Given the description of an element on the screen output the (x, y) to click on. 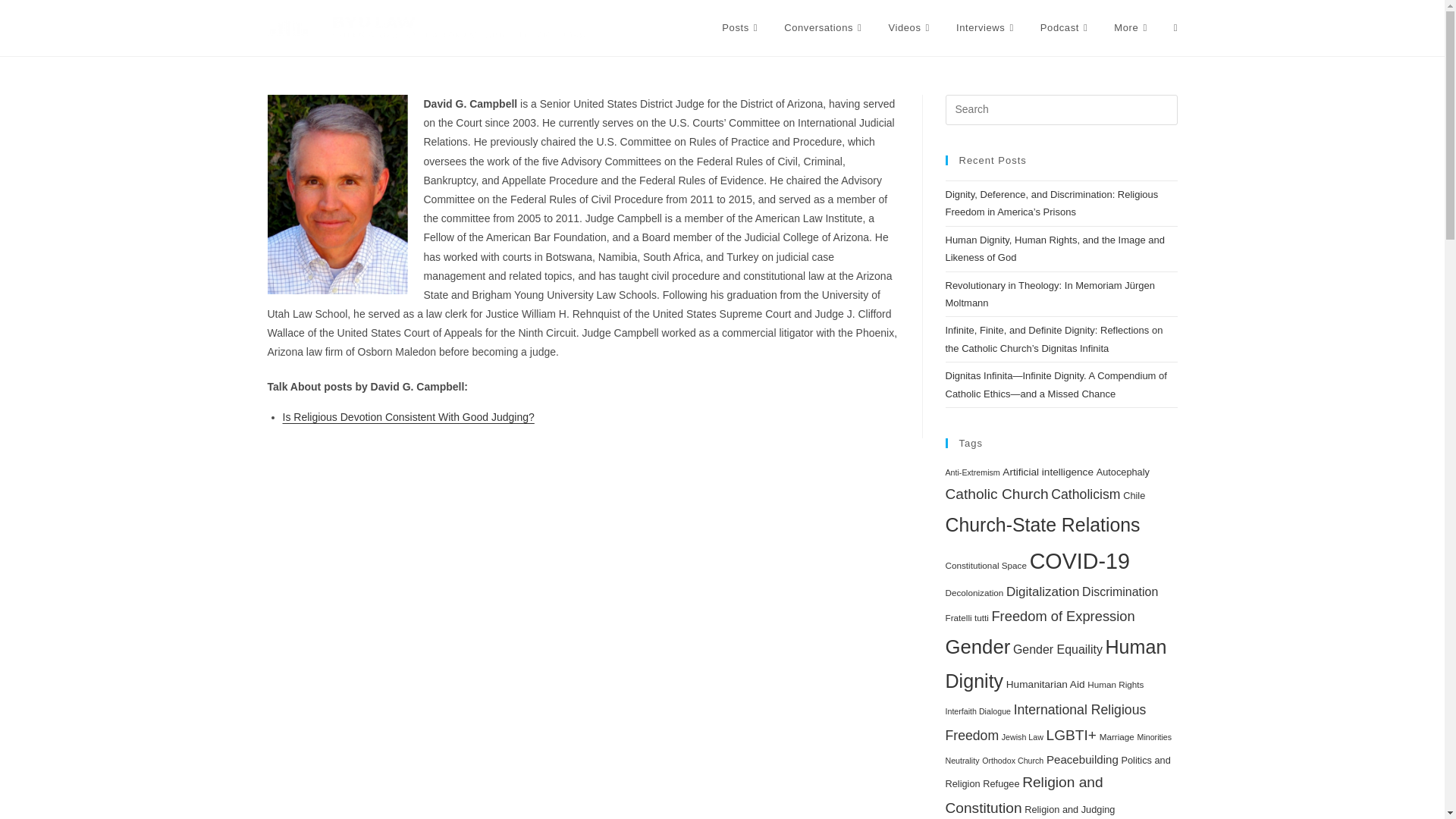
Conversations (824, 28)
Posts (741, 28)
Videos (909, 28)
Interviews (986, 28)
